Given the description of an element on the screen output the (x, y) to click on. 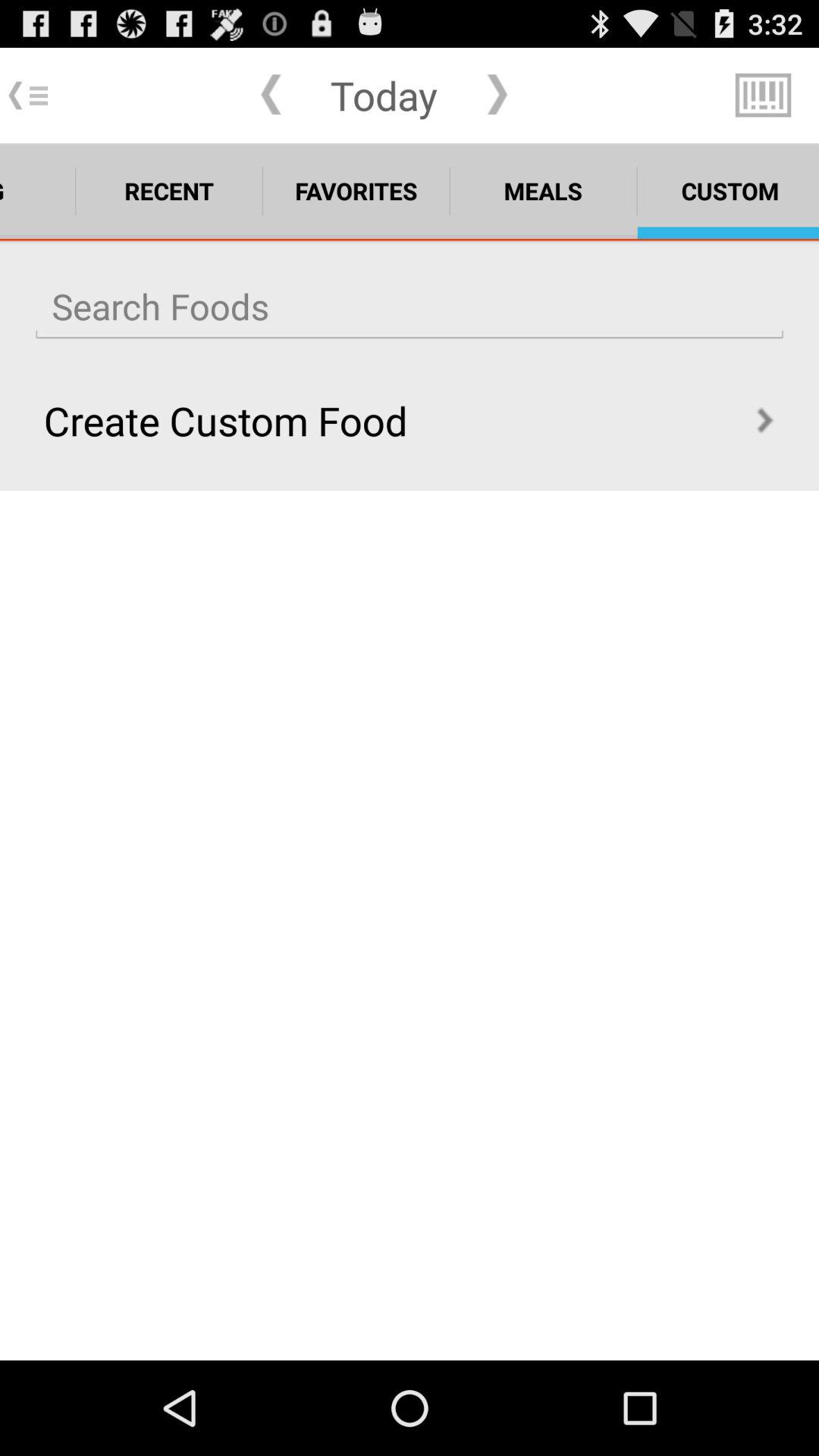
search bar (409, 306)
